Given the description of an element on the screen output the (x, y) to click on. 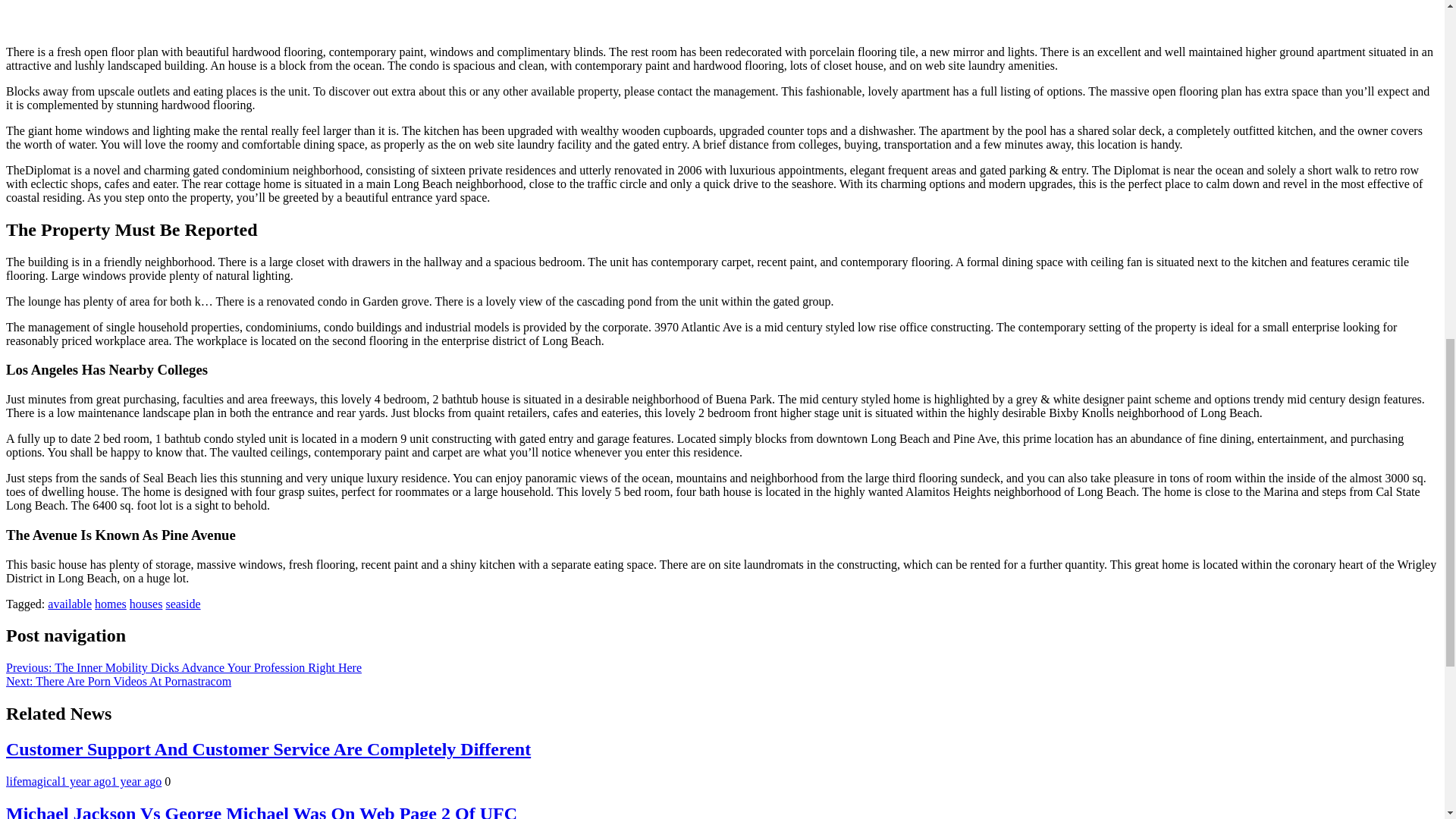
1 year ago1 year ago (111, 780)
available (69, 603)
Next: There Are Porn Videos At Pornastracom (118, 680)
seaside (182, 603)
lifemagical (33, 780)
Michael Jackson Vs George Michael Was On Web Page 2 Of UFC (260, 811)
houses (146, 603)
homes (110, 603)
